Given the description of an element on the screen output the (x, y) to click on. 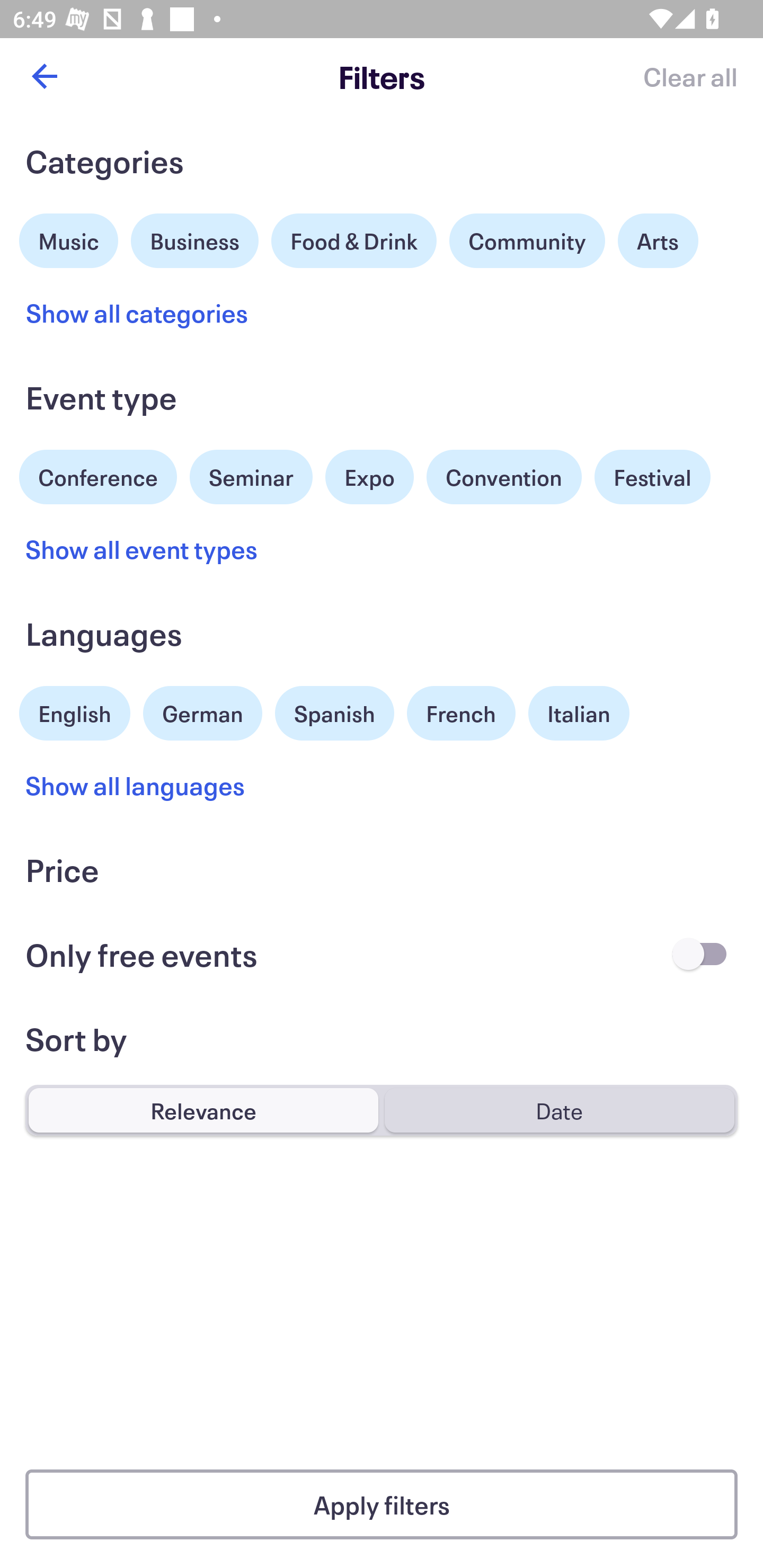
Back button (44, 75)
Clear all (690, 75)
Music (68, 238)
Business (194, 238)
Food & Drink (353, 240)
Community (527, 240)
Arts (658, 240)
Show all categories (136, 312)
Conference (98, 475)
Seminar (250, 477)
Expo (369, 477)
Convention (503, 477)
Festival (652, 477)
Show all event types (141, 548)
English (74, 710)
German (202, 710)
Spanish (334, 713)
French (460, 713)
Italian (578, 713)
Show all languages (135, 784)
Relevance (203, 1109)
Date (559, 1109)
Apply filters (381, 1504)
